Given the description of an element on the screen output the (x, y) to click on. 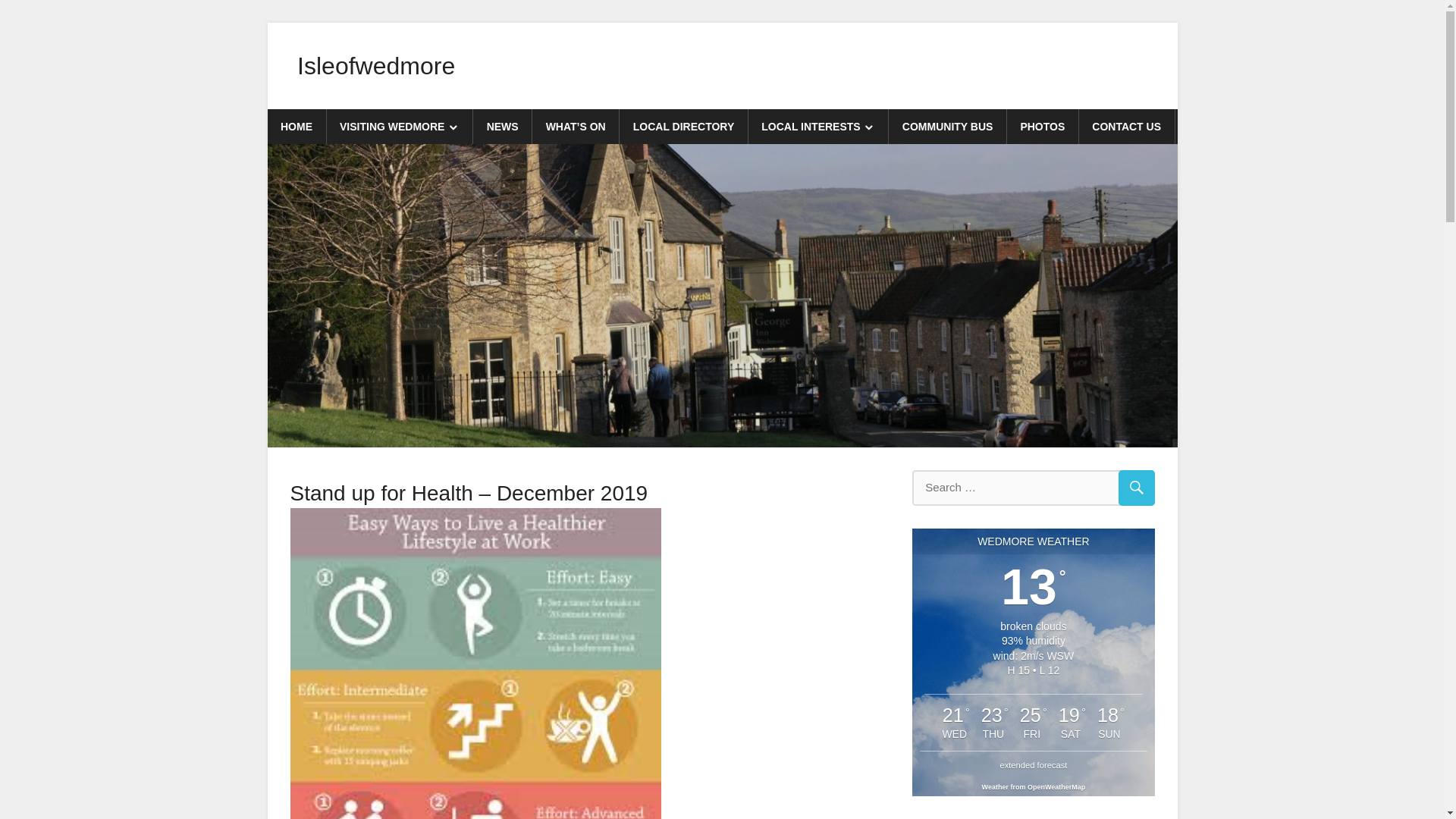
LOCAL DIRECTORY (684, 126)
COMMUNITY BUS (947, 126)
NEWS (502, 126)
CONTACT US (1126, 126)
LOCAL INTERESTS (818, 126)
Search for: (1033, 488)
PHOTOS (1042, 126)
Isleofwedmore (375, 65)
News (320, 481)
VISITING WEDMORE (399, 126)
extended forecast (1032, 764)
HOME (296, 126)
